Given the description of an element on the screen output the (x, y) to click on. 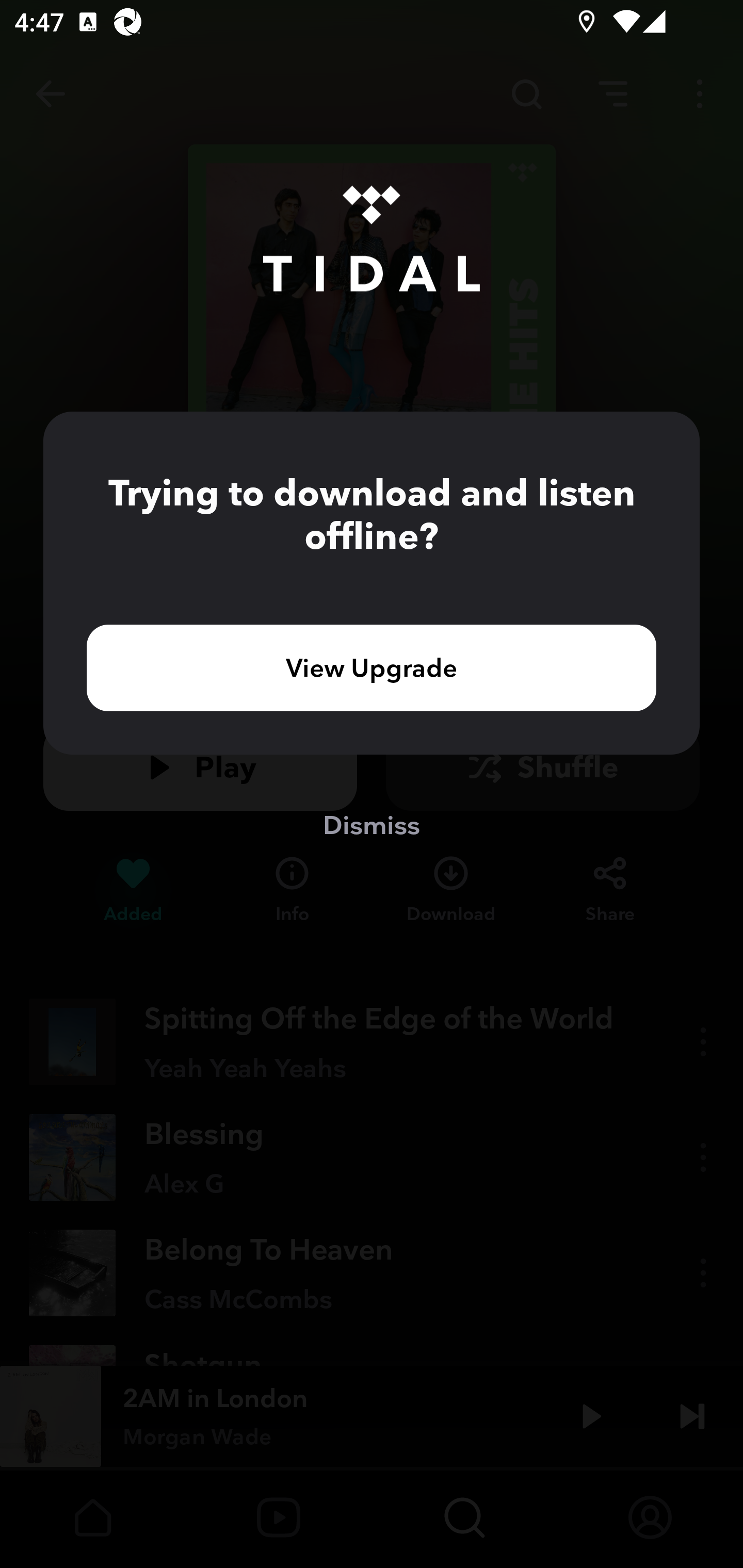
View Upgrade (371, 667)
Dismiss (371, 824)
